Given the description of an element on the screen output the (x, y) to click on. 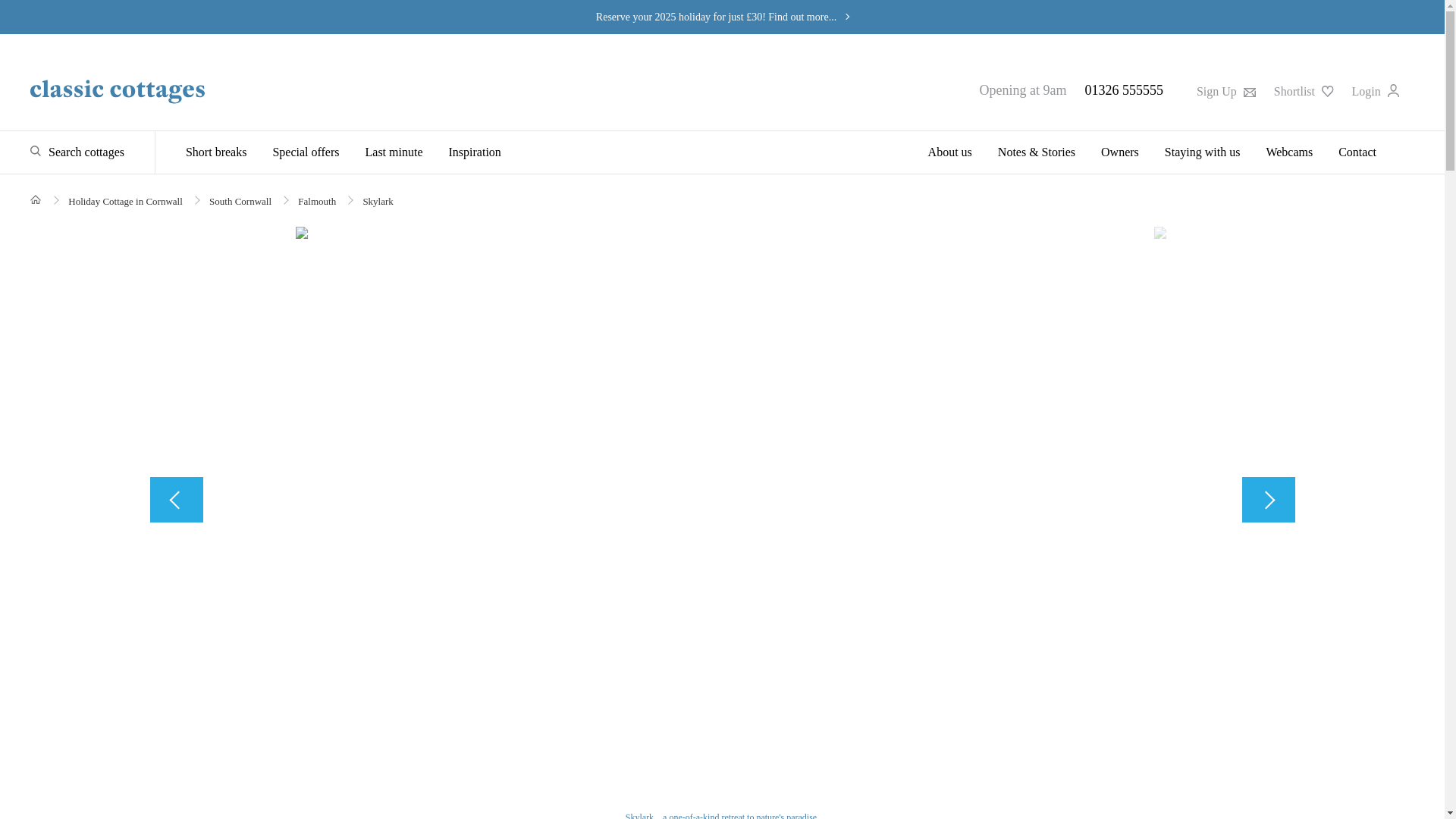
Short breaks (221, 152)
Search cottages (76, 152)
Shortlist (1303, 91)
01326 555555 (1123, 89)
Sign Up (1225, 91)
Owners (1119, 152)
Staying with us (1202, 152)
Sign up (1225, 91)
Last minute (393, 152)
Falmouth (317, 201)
